Given the description of an element on the screen output the (x, y) to click on. 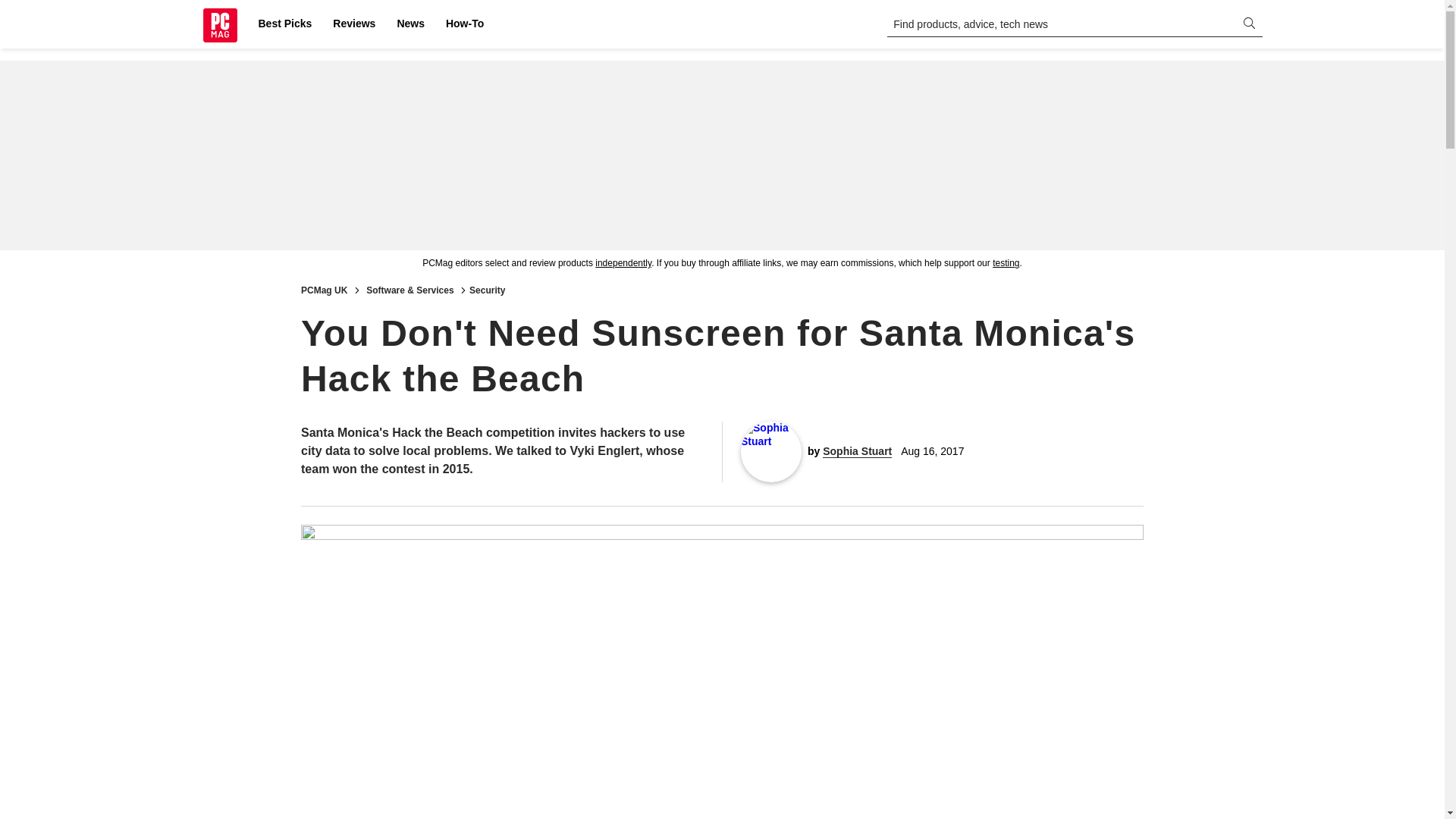
Best Picks (284, 24)
